Given the description of an element on the screen output the (x, y) to click on. 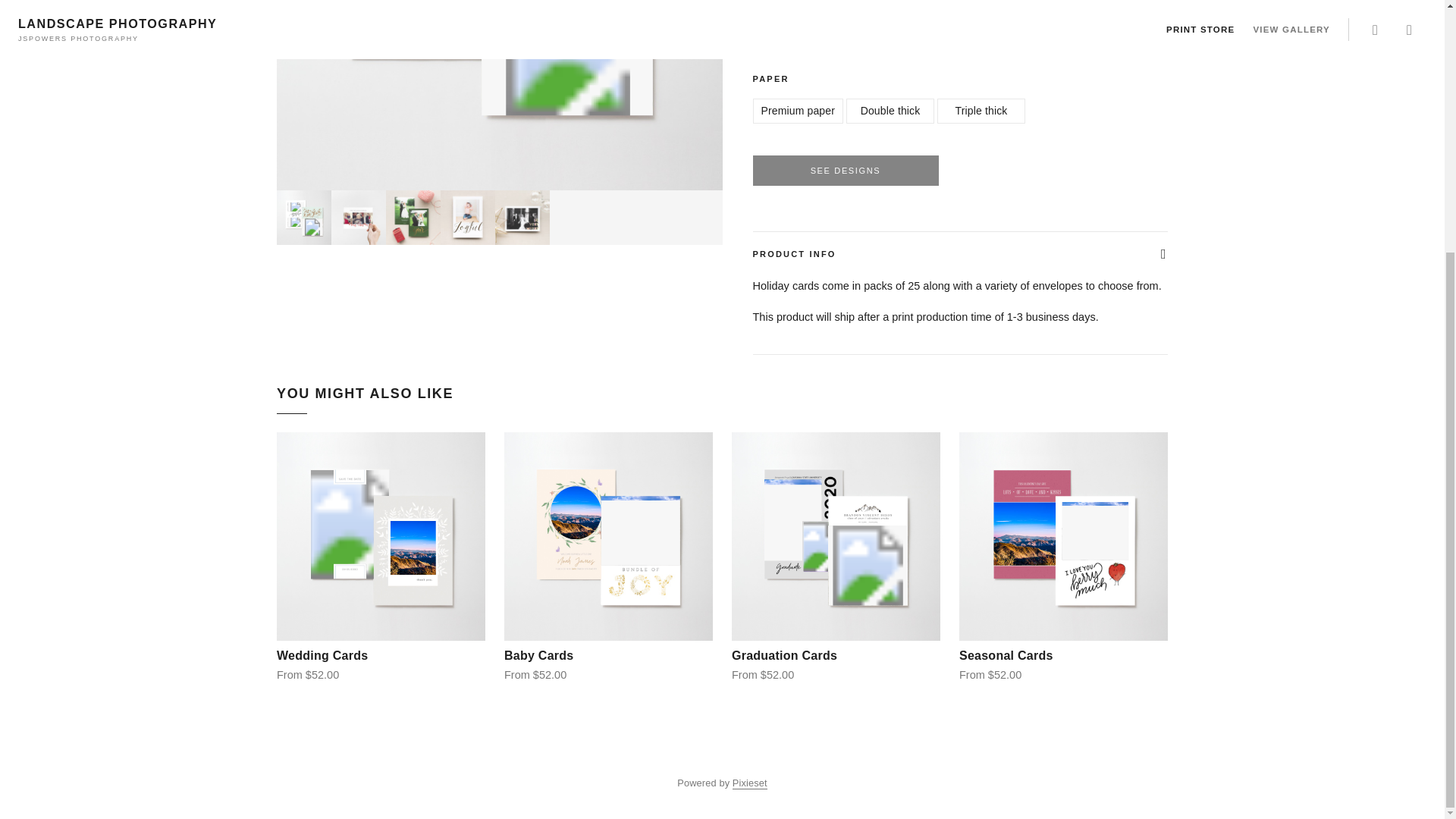
SEE DESIGNS (844, 170)
